Given the description of an element on the screen output the (x, y) to click on. 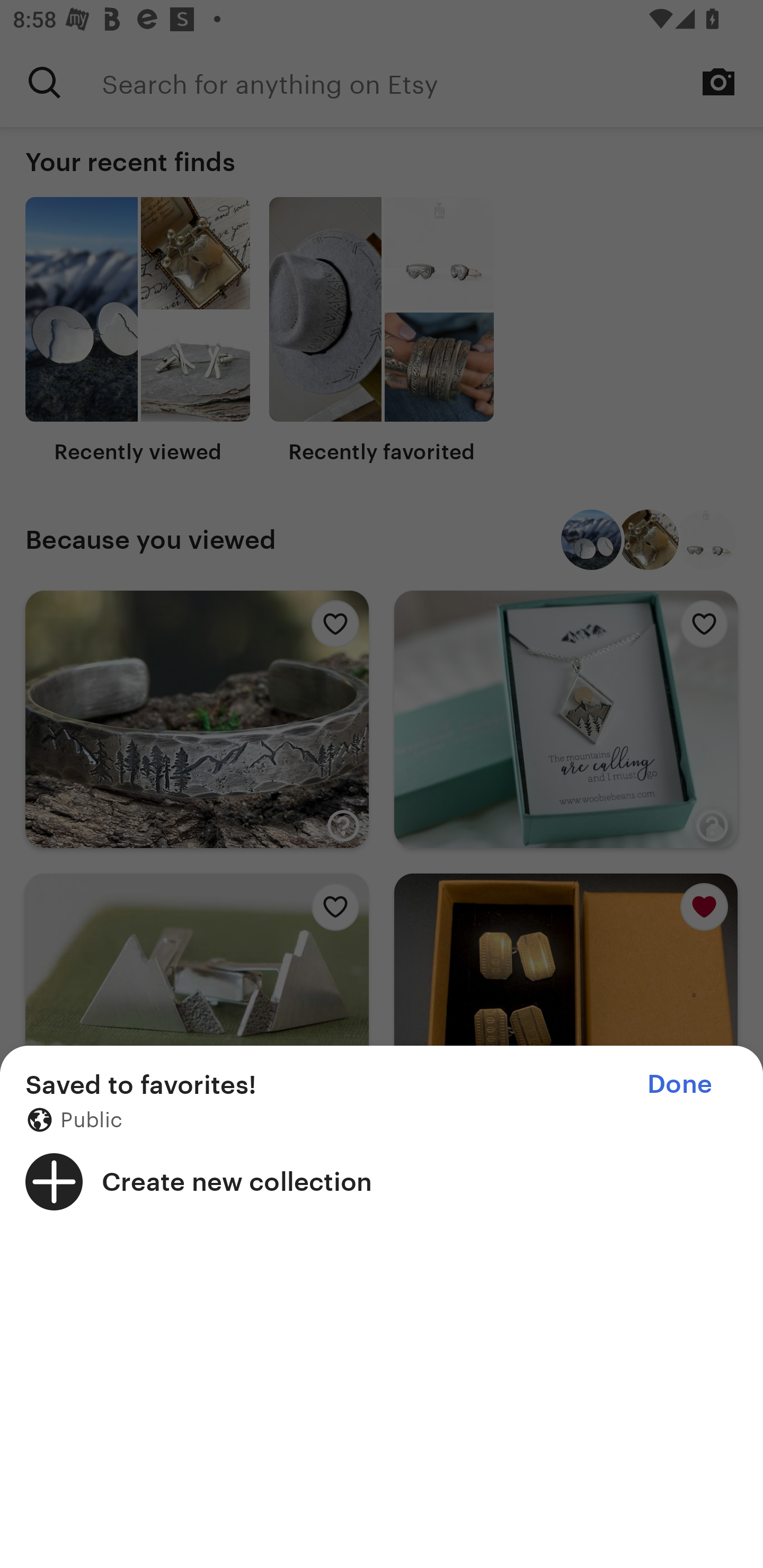
Done (679, 1083)
Create new collection (381, 1181)
